Given the description of an element on the screen output the (x, y) to click on. 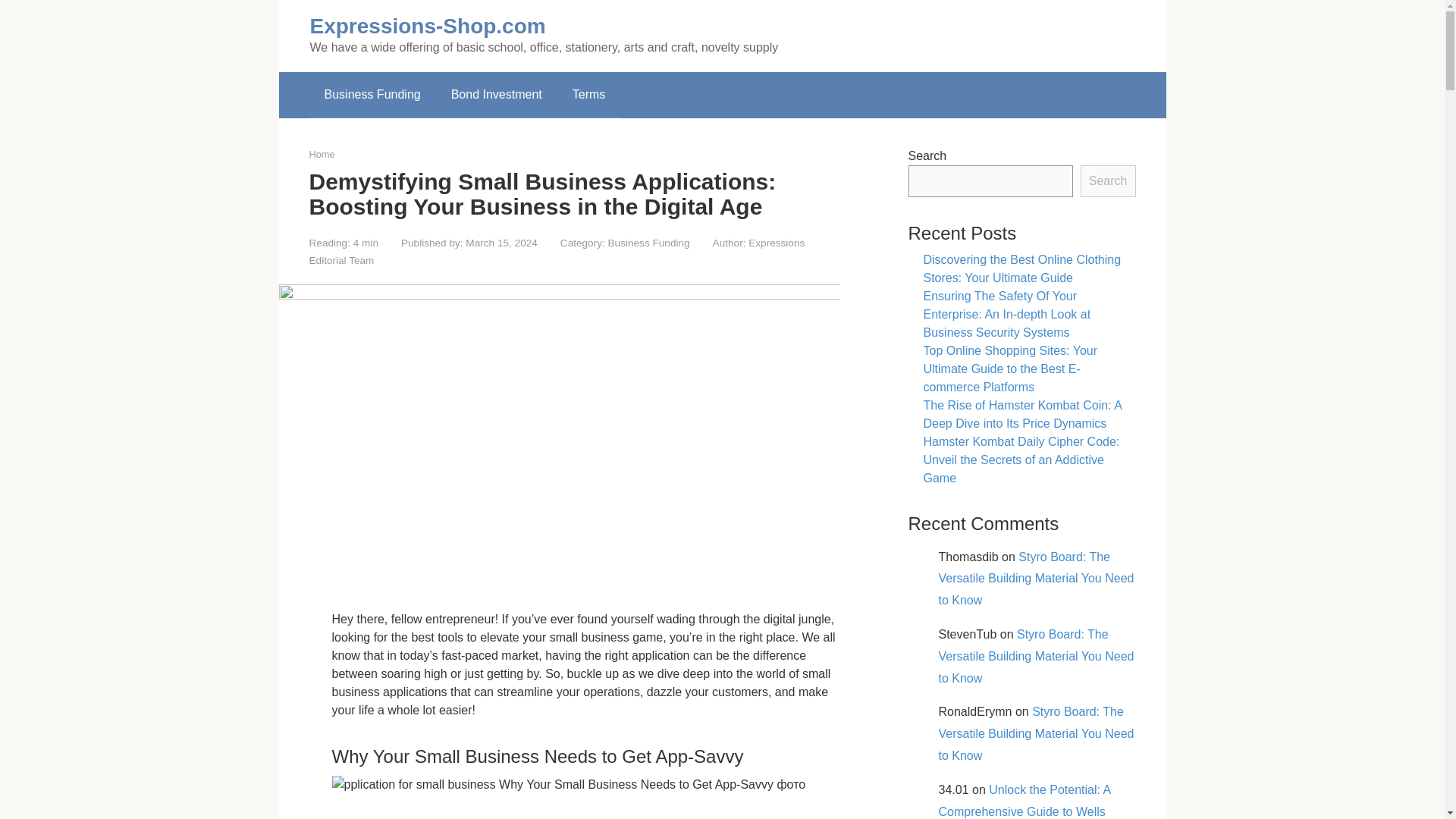
Business Funding (649, 242)
Terms (589, 94)
Home (321, 153)
Bond Investment (496, 94)
Search (1107, 181)
Expressions-Shop.com (426, 25)
Business Funding (371, 94)
